Given the description of an element on the screen output the (x, y) to click on. 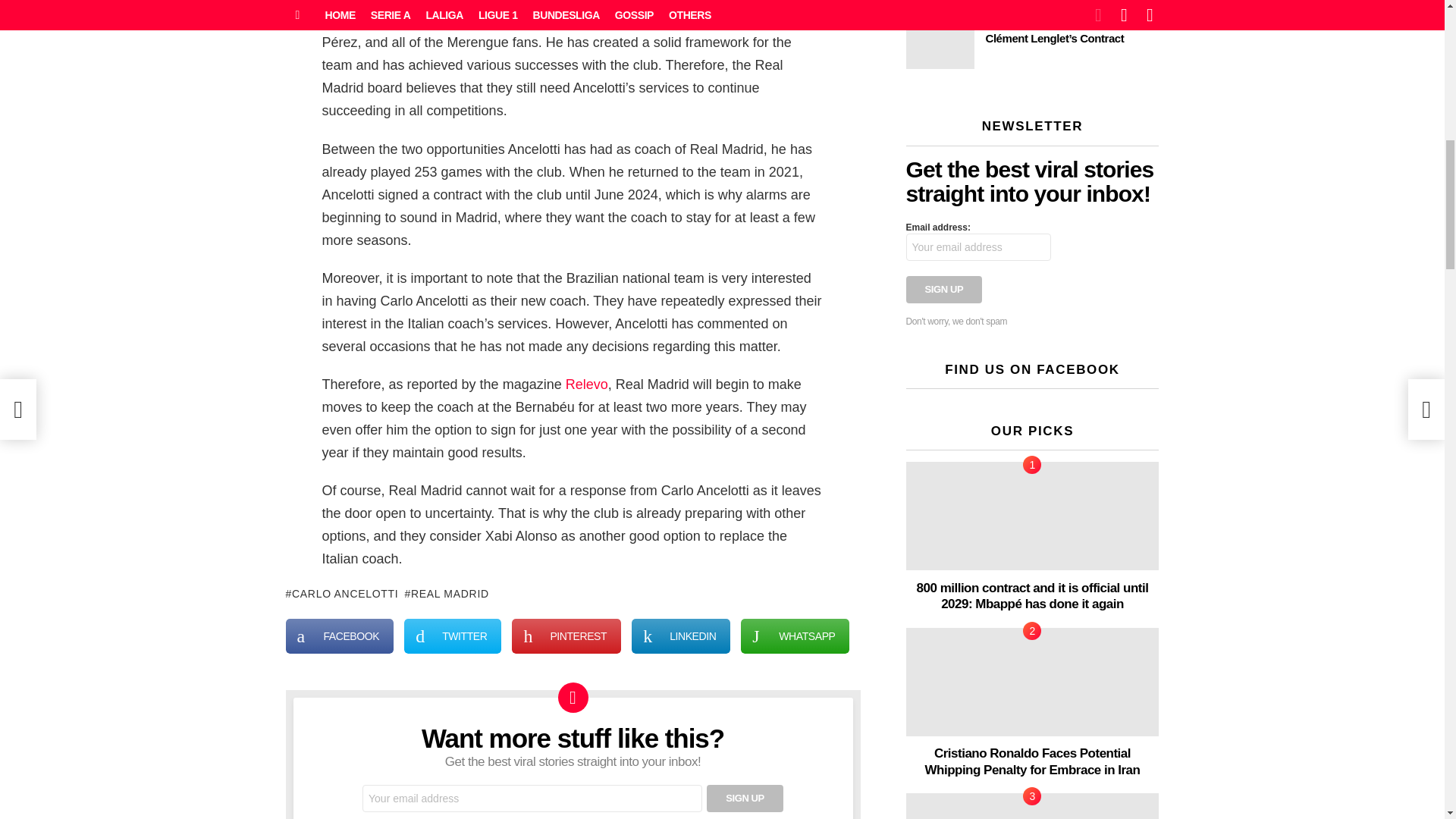
Sign up (943, 289)
Share on Pinterest (566, 636)
Sign up (744, 798)
Share on LinkedIn (680, 636)
Share on Twitter (452, 636)
Share on Facebook (339, 636)
